Given the description of an element on the screen output the (x, y) to click on. 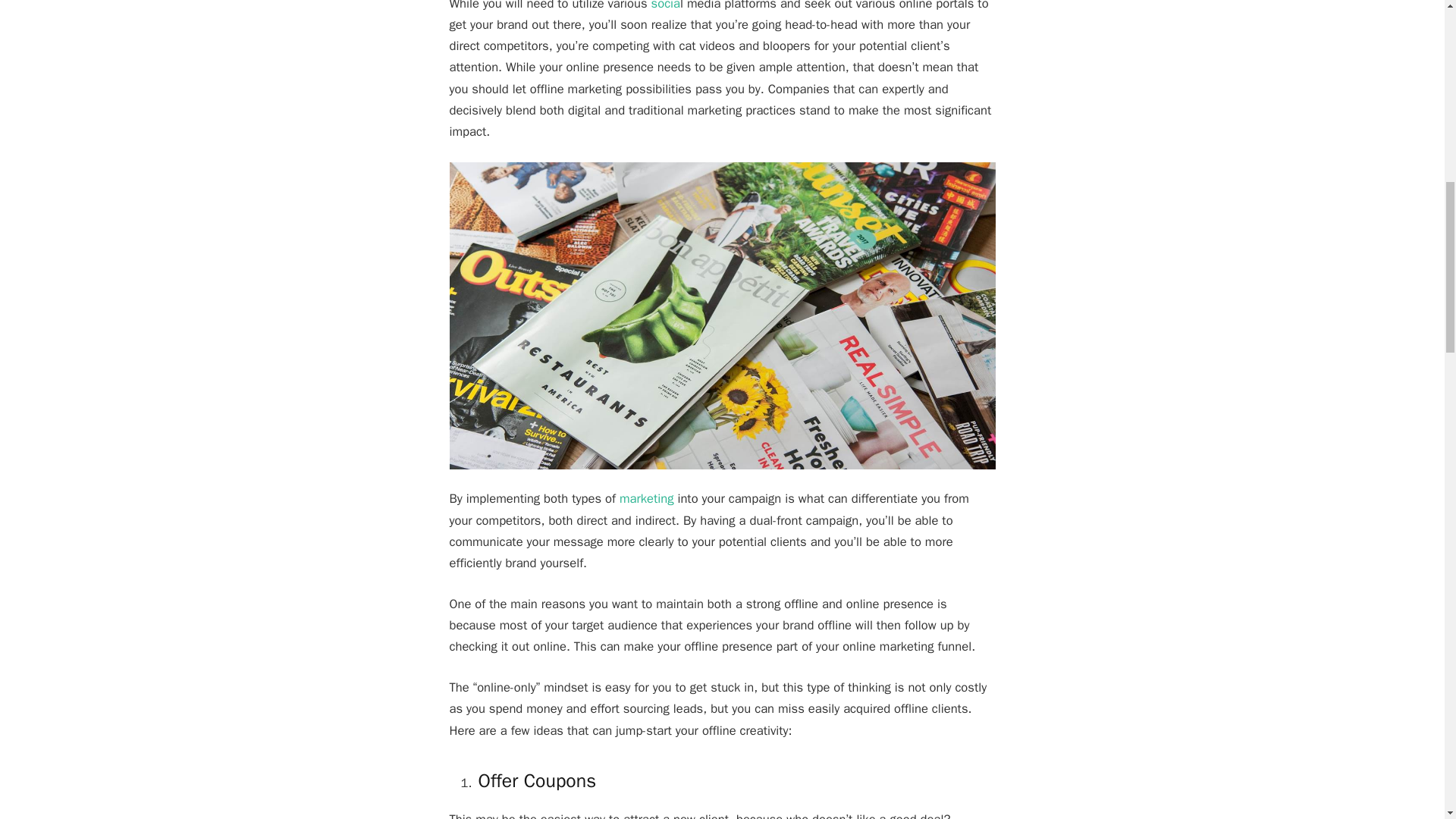
socia (664, 5)
marketing (647, 498)
